Given the description of an element on the screen output the (x, y) to click on. 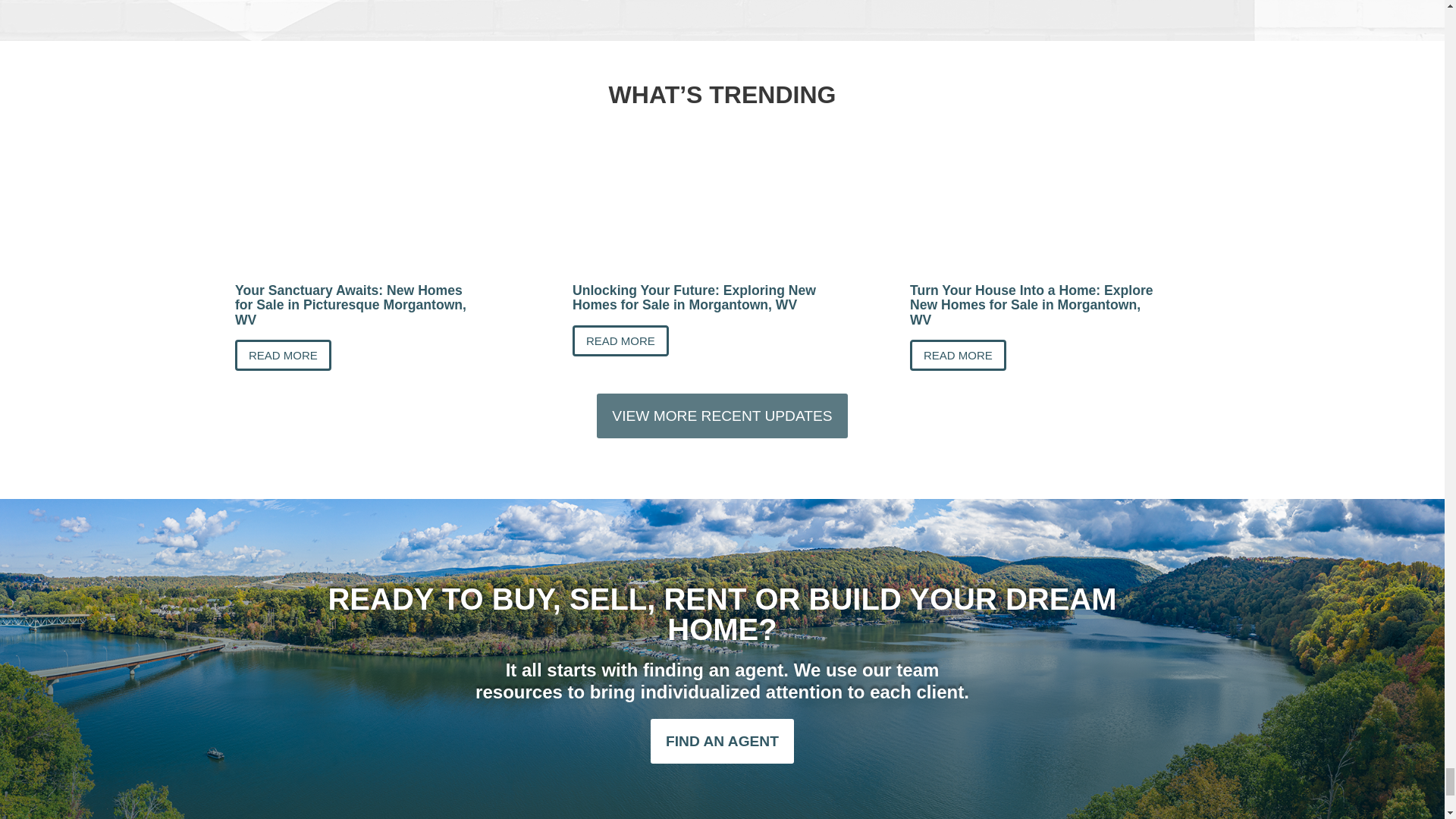
KLM Properties, Inc. 25 (384, 212)
KLM Properties, Inc. 27 (722, 212)
